Given the description of an element on the screen output the (x, y) to click on. 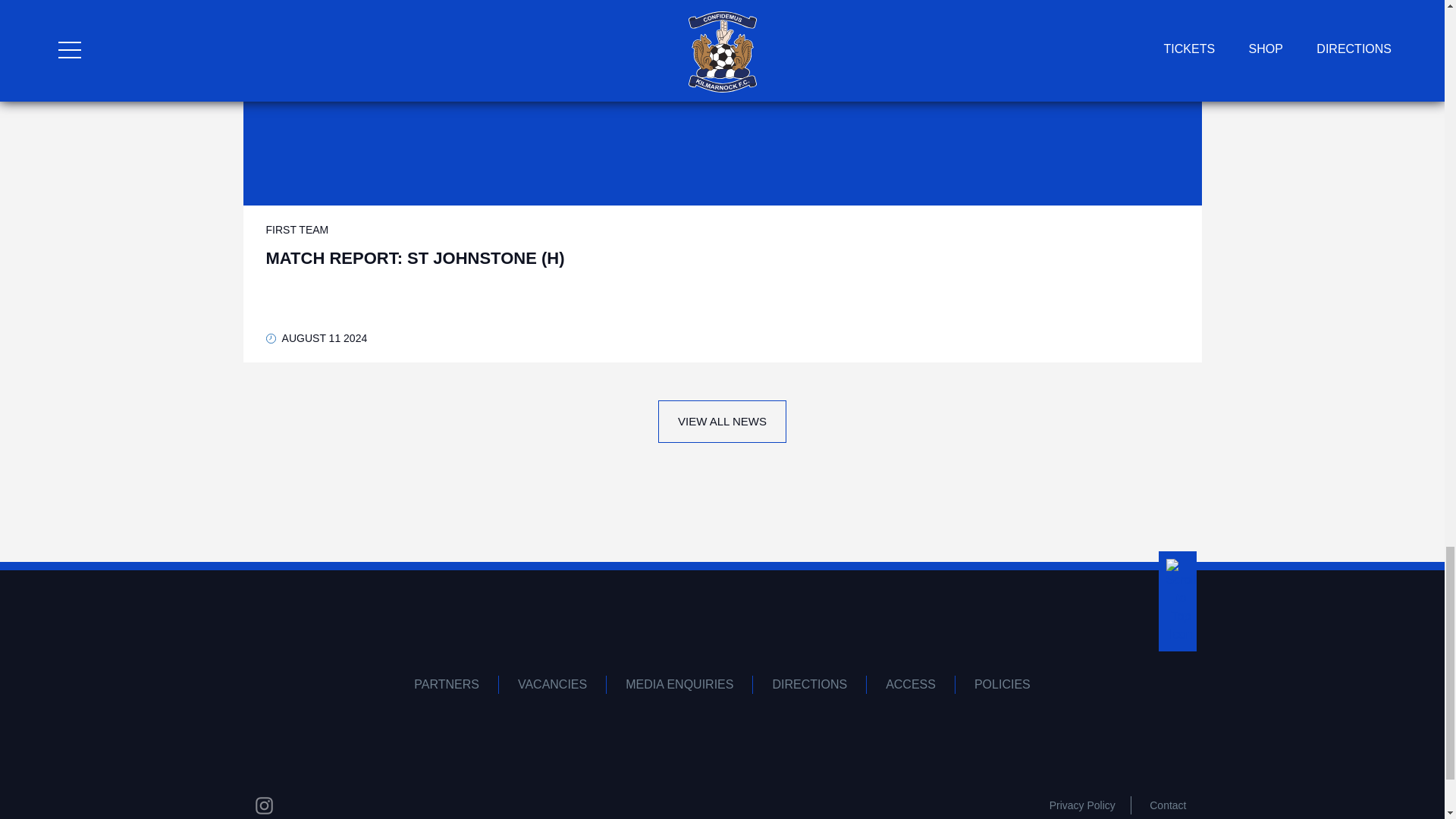
POLICIES (1002, 684)
VACANCIES (553, 684)
ACCESS (910, 684)
MEDIA ENQUIRIES (679, 684)
DIRECTIONS (809, 684)
Privacy Policy (1082, 805)
PARTNERS (446, 684)
VIEW ALL NEWS (722, 421)
Contact (1167, 805)
